Given the description of an element on the screen output the (x, y) to click on. 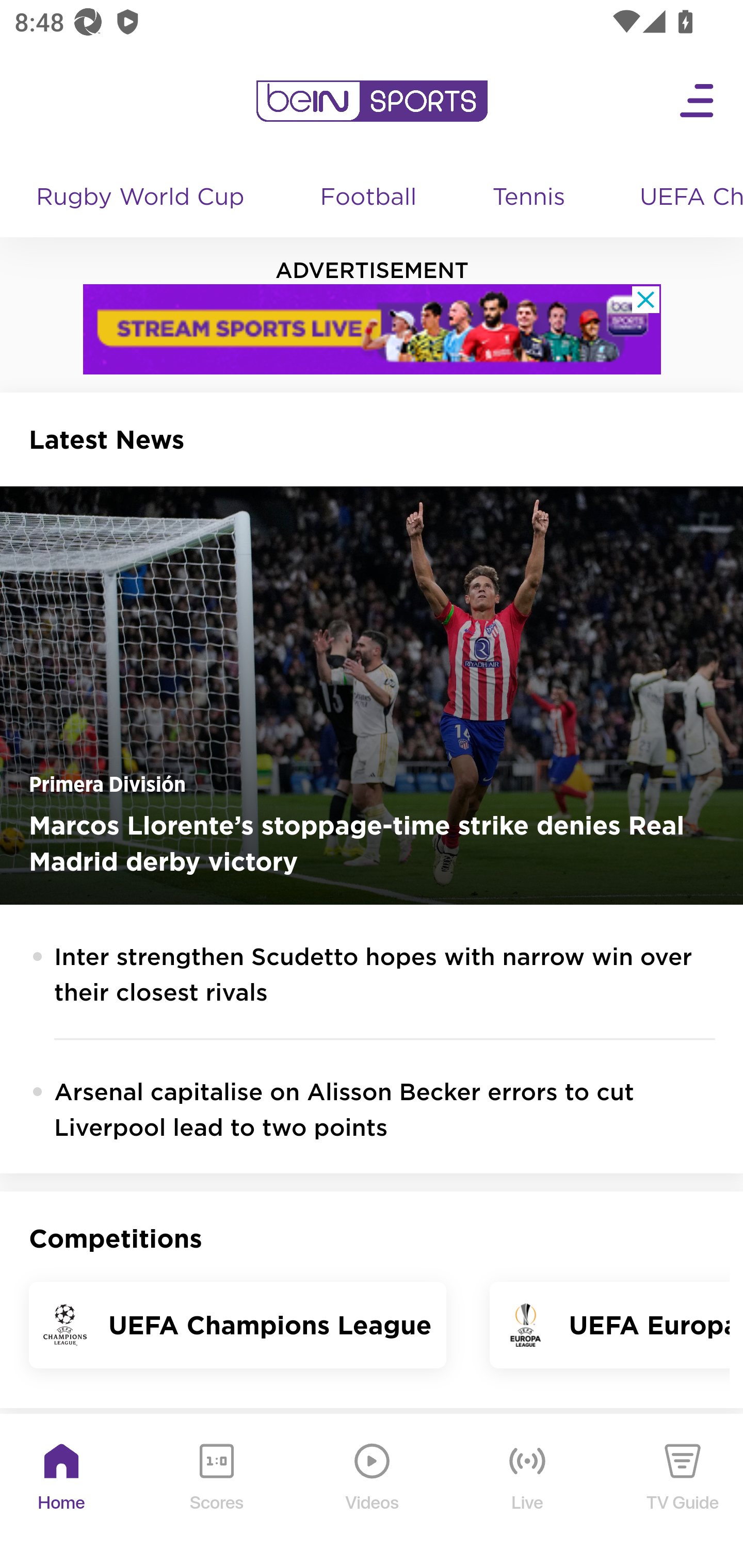
en-my?platform=mobile_android bein logo (371, 101)
Open Menu Icon (697, 101)
Rugby World Cup (142, 198)
Football (369, 198)
Tennis (530, 198)
UEFA Champions League (683, 198)
l8psv8uu (372, 328)
Home Home Icon Home (61, 1491)
Scores Scores Icon Scores (216, 1491)
Videos Videos Icon Videos (372, 1491)
TV Guide TV Guide Icon TV Guide (682, 1491)
